Given the description of an element on the screen output the (x, y) to click on. 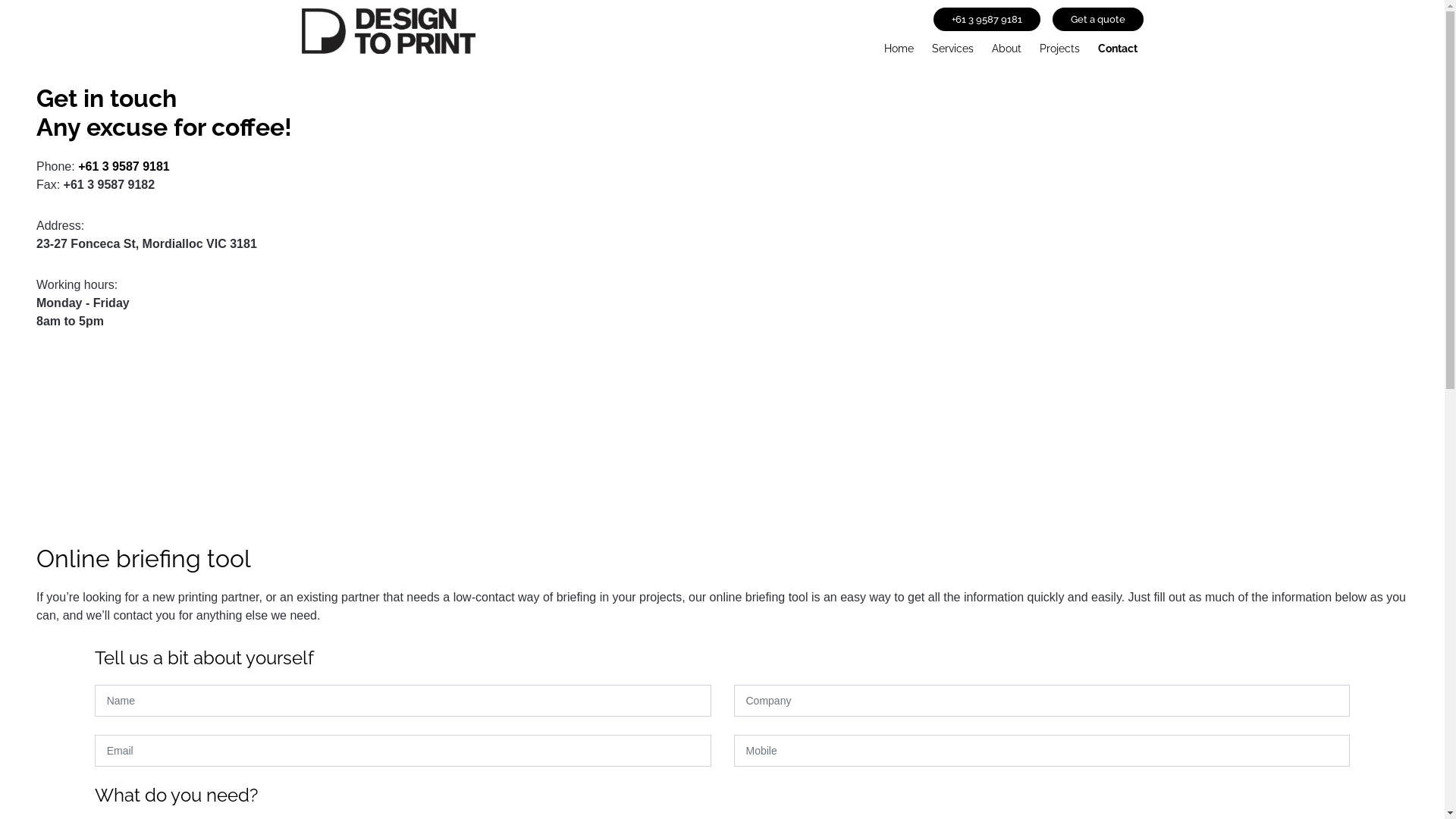
+61 3 9587 9181 Element type: text (123, 166)
About Element type: text (1006, 45)
Contact Element type: text (1117, 45)
Services Element type: text (952, 45)
Home Element type: text (898, 45)
Get a quote Element type: text (1097, 19)
Projects Element type: text (1058, 45)
+61 3 9587 9181 Element type: text (985, 19)
